Given the description of an element on the screen output the (x, y) to click on. 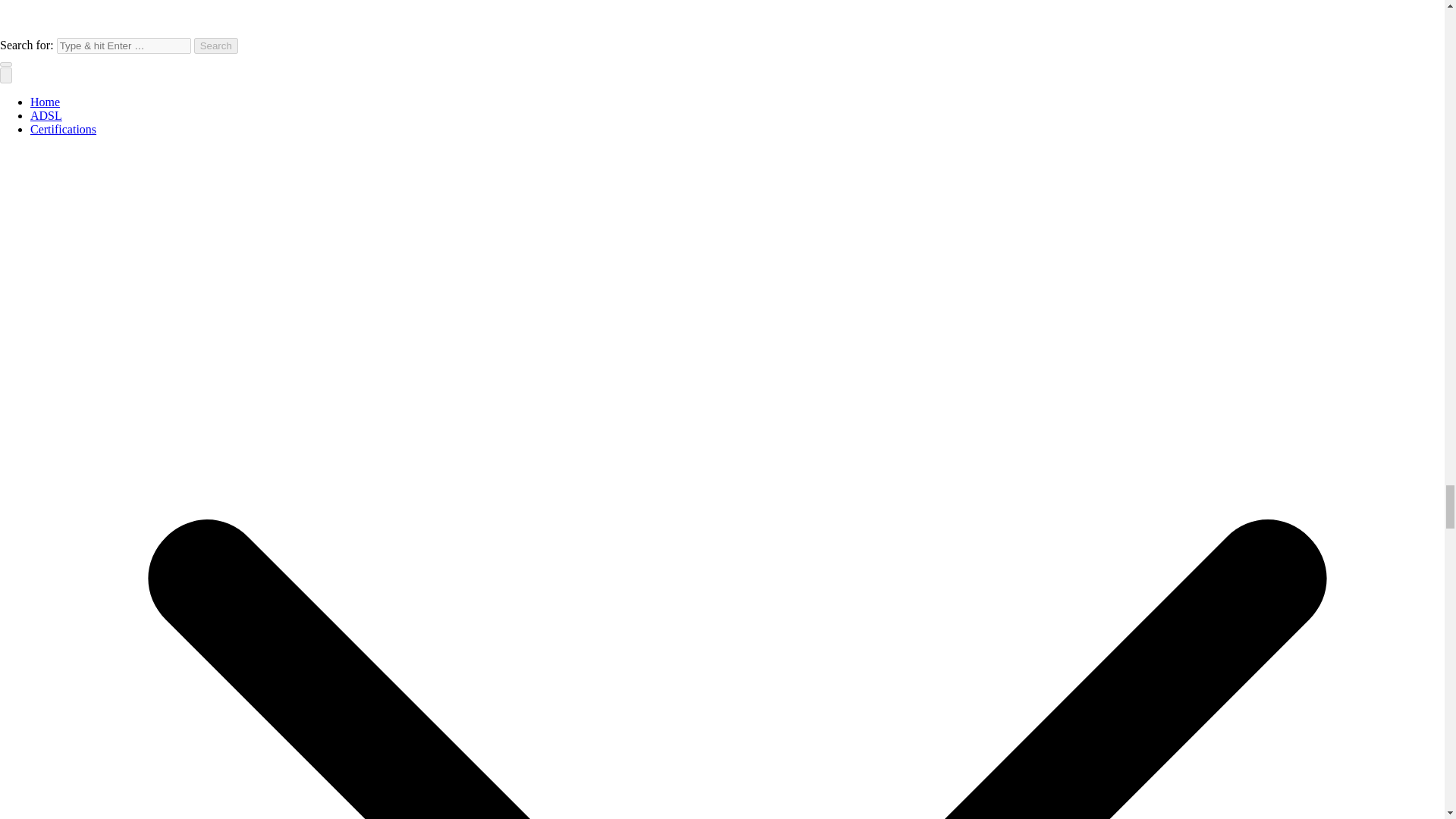
Search (215, 45)
Search for: (123, 45)
Certifications (63, 128)
Home (44, 101)
Search (215, 45)
ADSL (46, 115)
Search (215, 45)
